Given the description of an element on the screen output the (x, y) to click on. 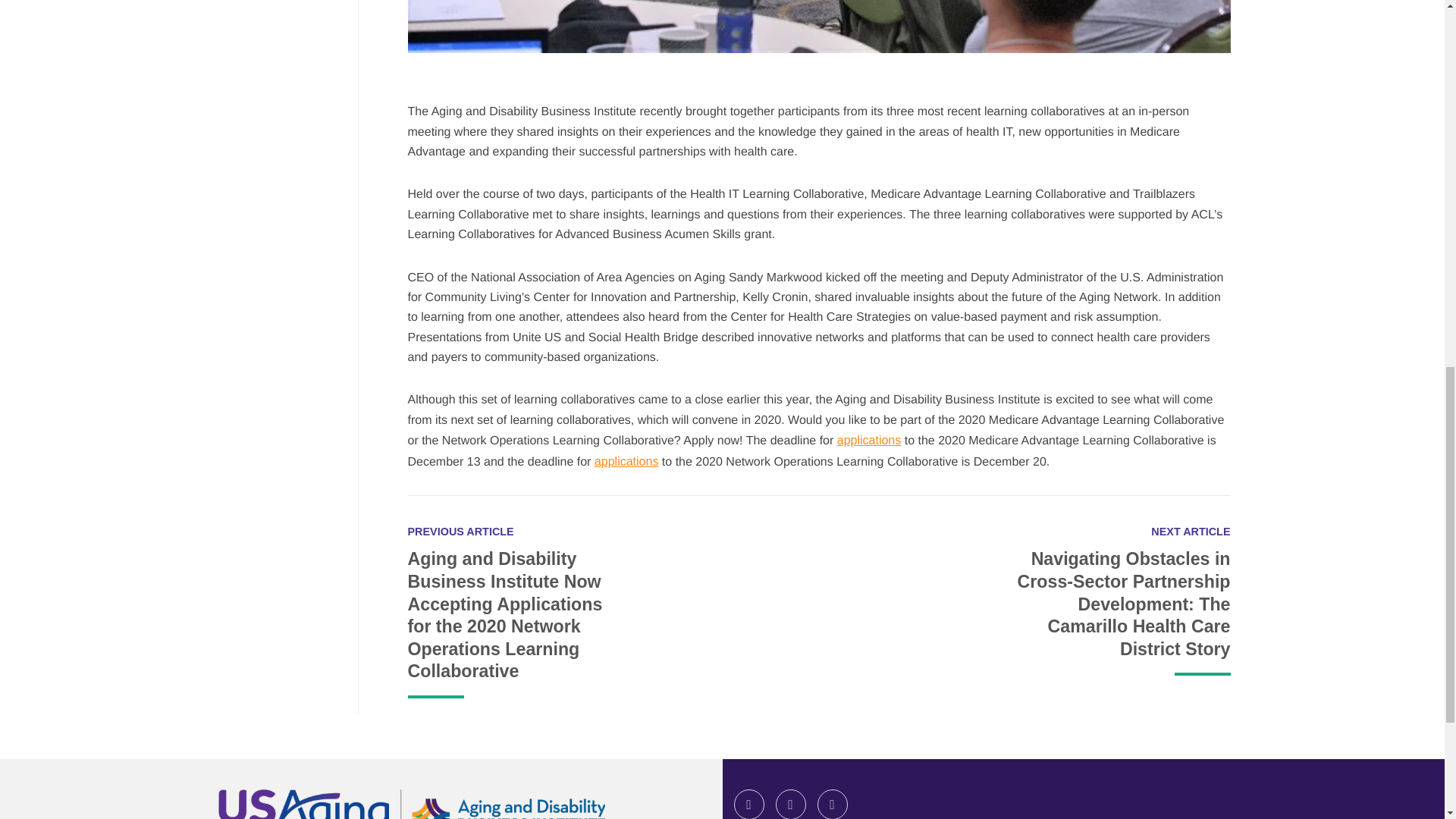
applications (869, 440)
applications (626, 461)
